Given the description of an element on the screen output the (x, y) to click on. 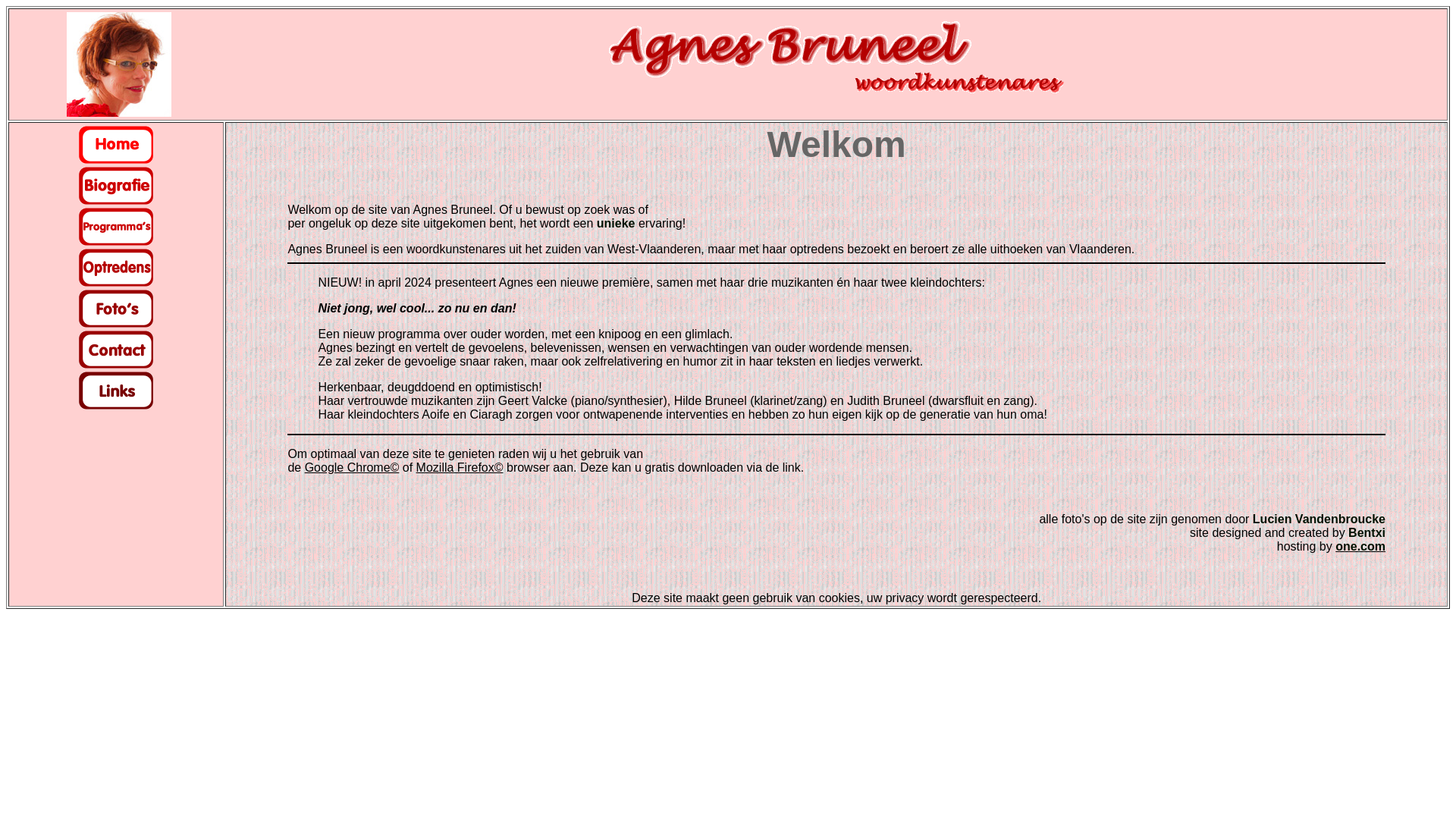
one.com Element type: text (1360, 545)
